Given the description of an element on the screen output the (x, y) to click on. 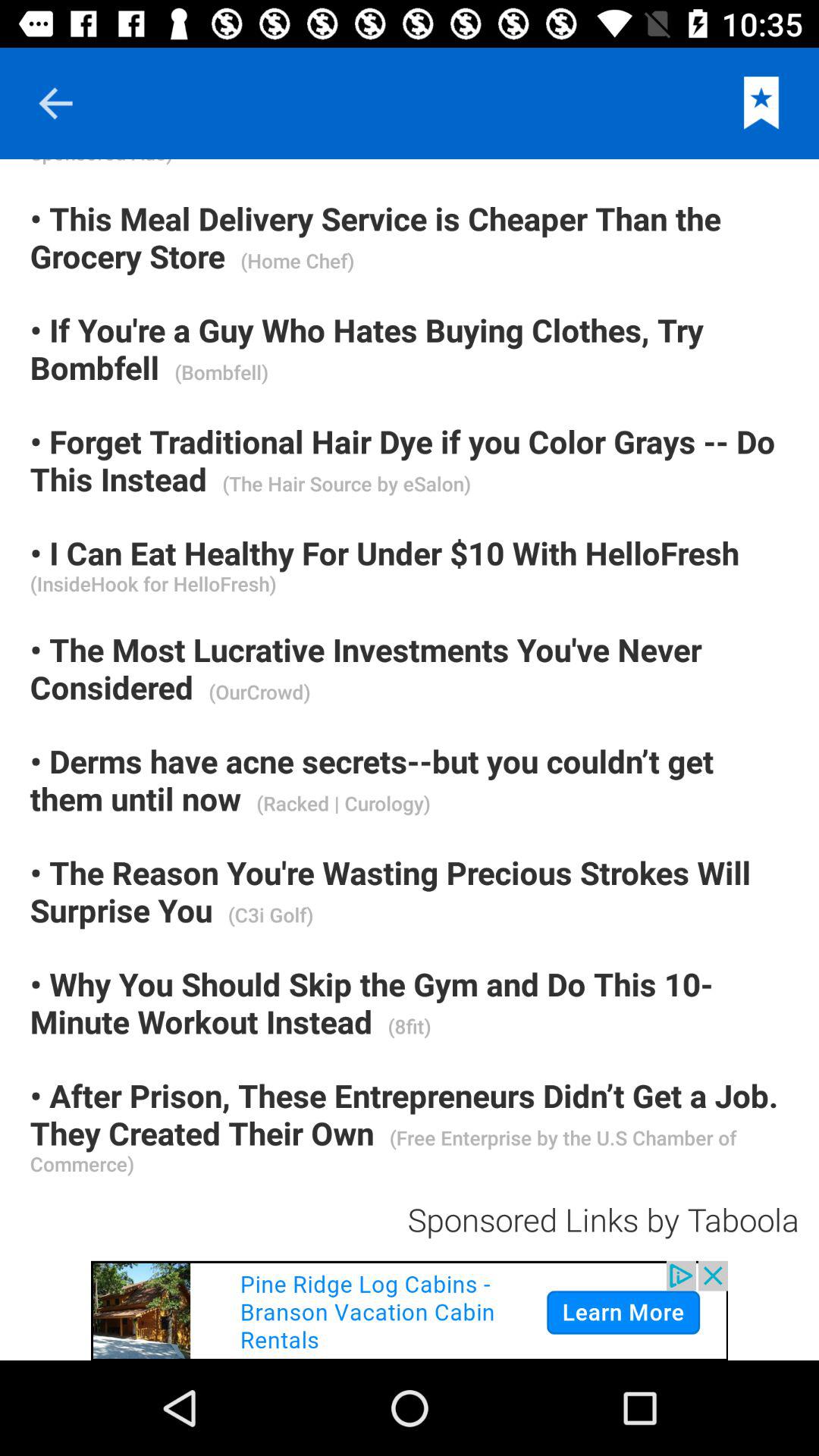
click on advertisement (409, 1310)
